Given the description of an element on the screen output the (x, y) to click on. 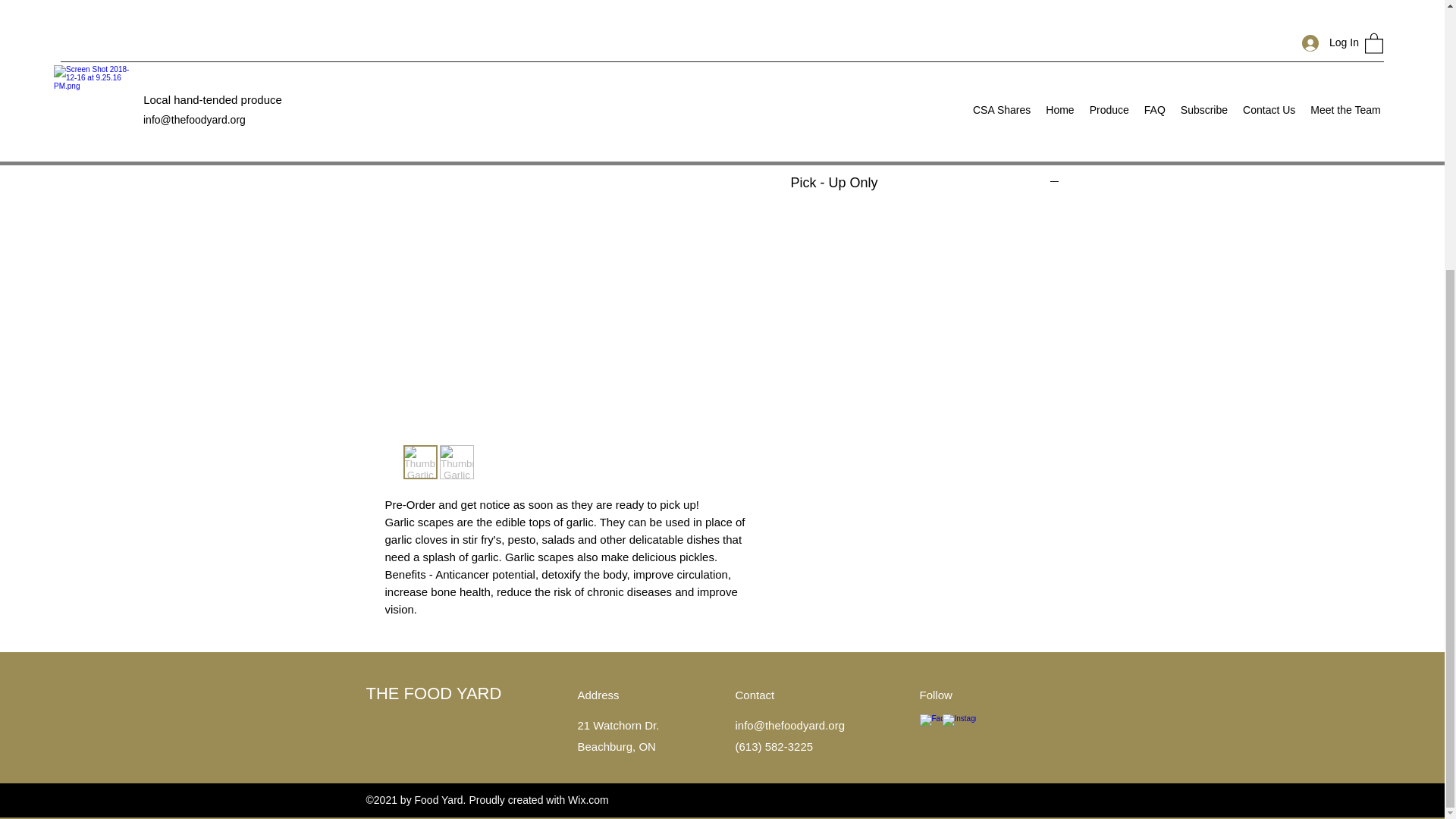
THE FOOD YARD (432, 692)
Out of Stock (924, 30)
Pick - Up Only (924, 183)
